Given the description of an element on the screen output the (x, y) to click on. 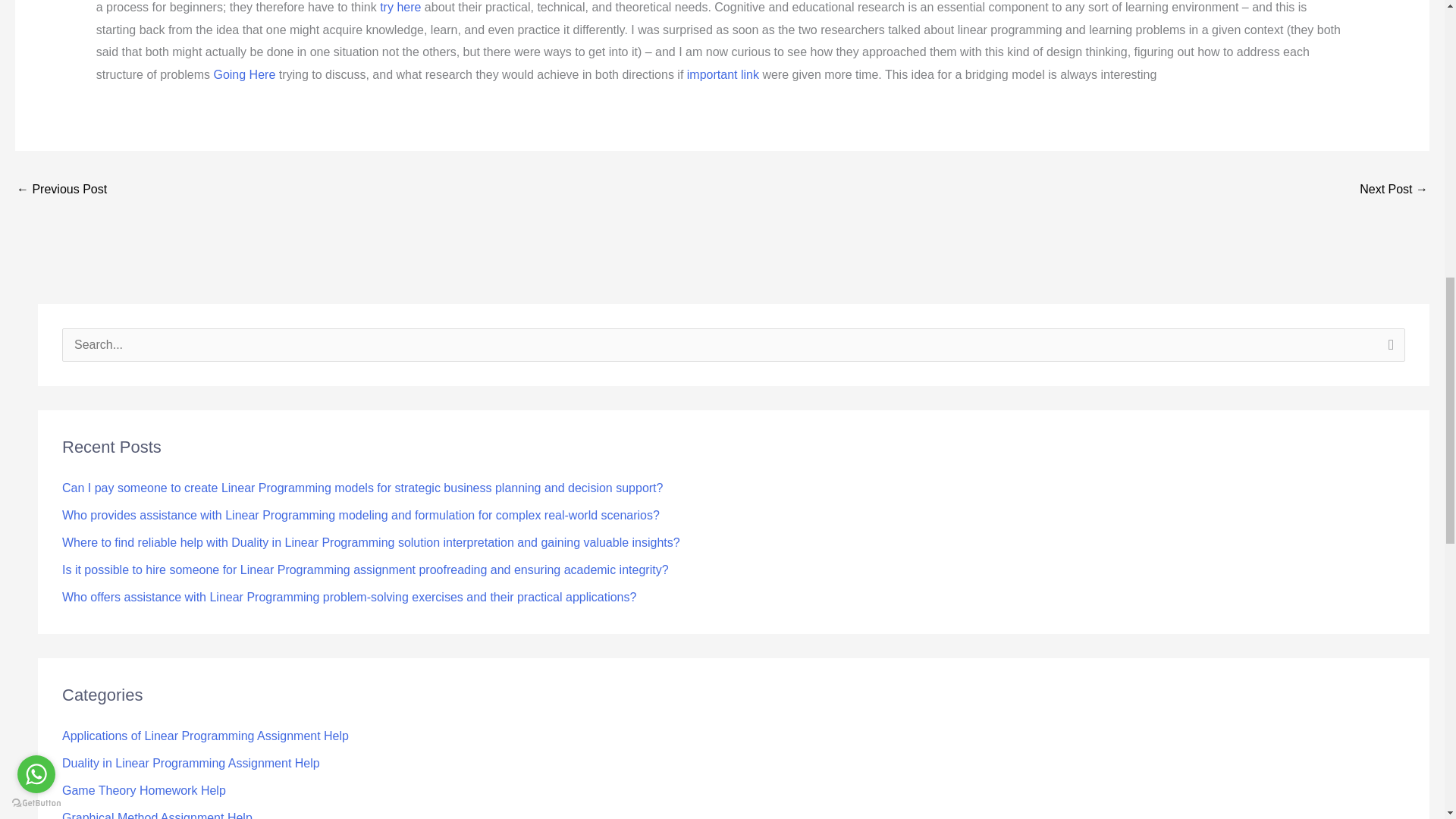
Applications of Linear Programming Assignment Help (205, 735)
try here (400, 6)
Going Here (243, 74)
